Given the description of an element on the screen output the (x, y) to click on. 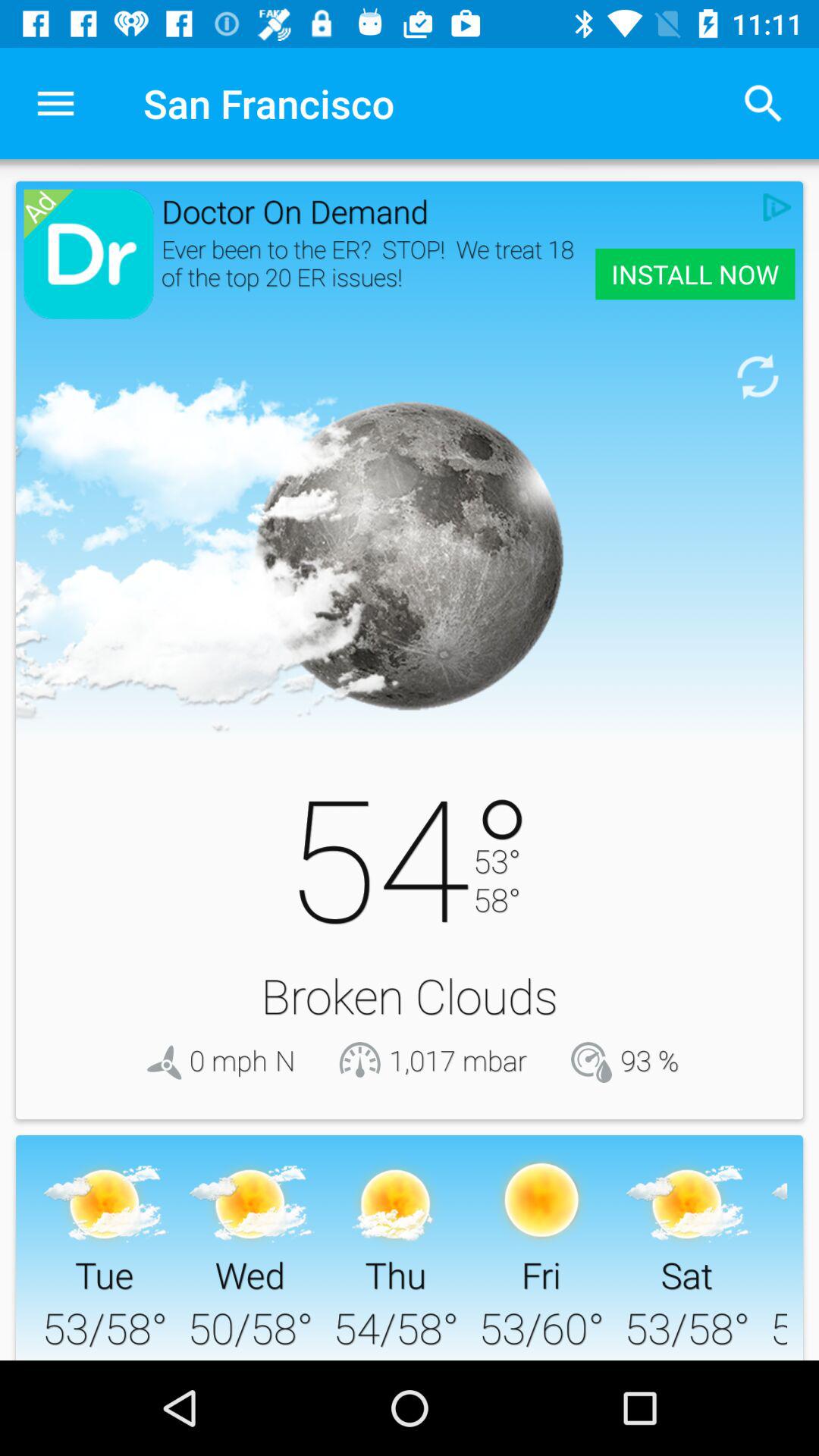
open doctor on demand item (458, 210)
